Given the description of an element on the screen output the (x, y) to click on. 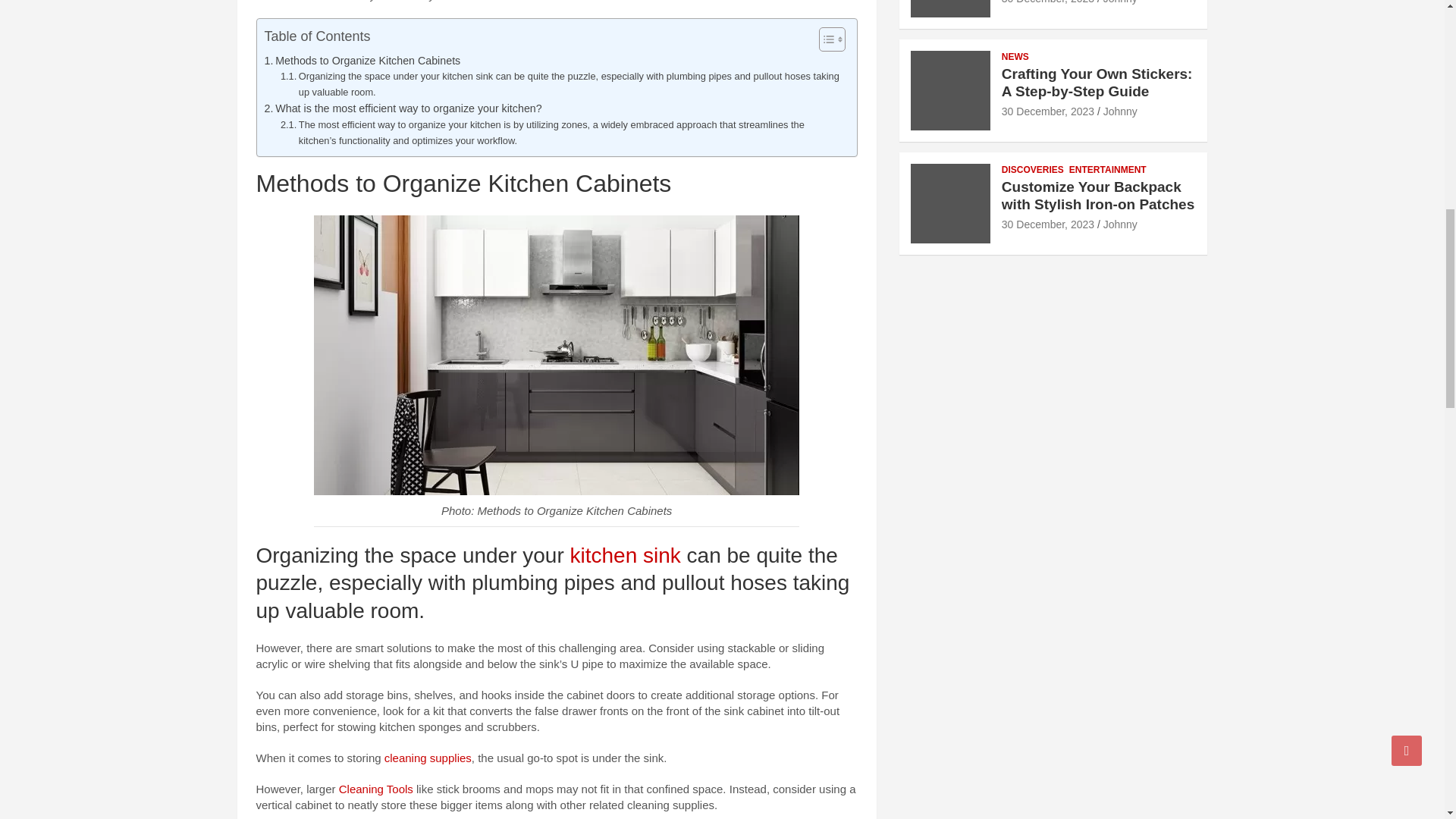
kitchen sink (625, 555)
Cleaning Tools (376, 788)
What is the most efficient way to organize your kitchen? (402, 108)
Methods to Organize Kitchen Cabinets (361, 60)
cleaning supplies (427, 757)
What is the most efficient way to organize your kitchen? (402, 108)
Methods to Organize Kitchen Cabinets (361, 60)
